Given the description of an element on the screen output the (x, y) to click on. 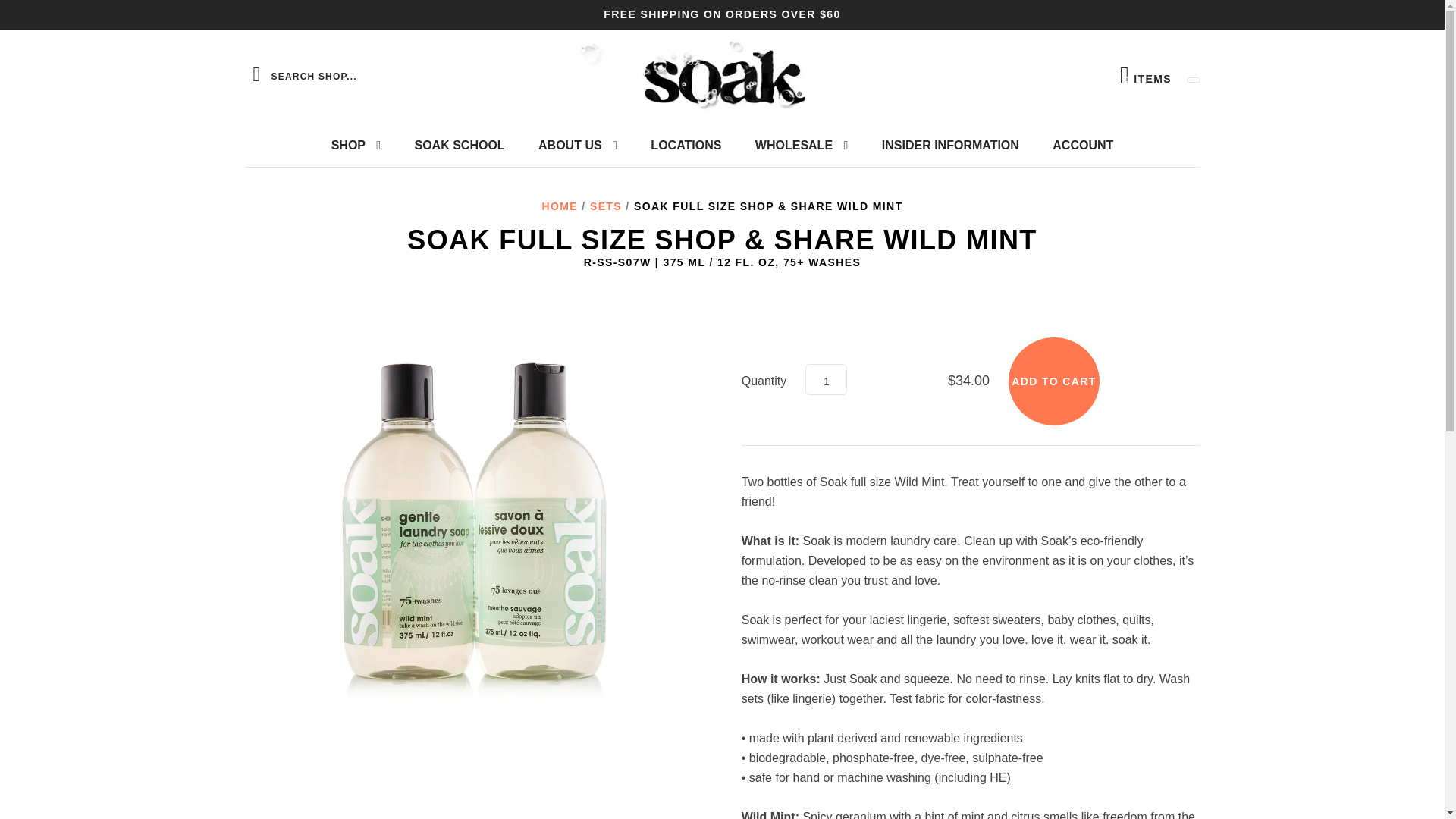
ABOUT US (576, 145)
SHOP (355, 145)
WHOLESALE (801, 145)
SOAK SCHOOL (458, 145)
LOCATIONS (685, 145)
Add to cart (1054, 381)
1 (826, 378)
